Given the description of an element on the screen output the (x, y) to click on. 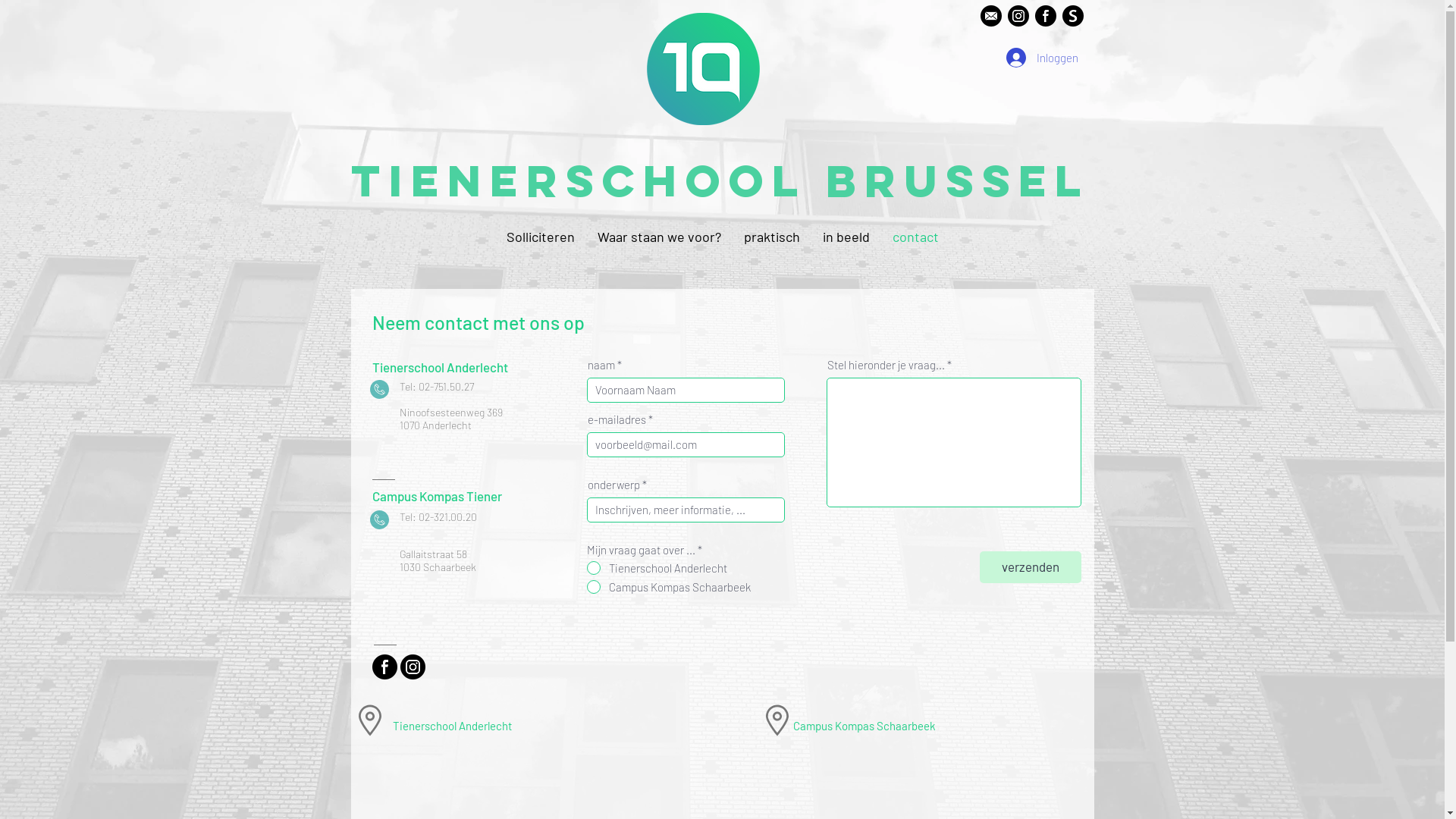
in beeld Element type: text (846, 236)
contact Element type: text (915, 236)
verzenden Element type: text (1030, 567)
Inloggen Element type: text (1039, 57)
praktisch Element type: text (771, 236)
Waar staan we voor? Element type: text (658, 236)
Solliciteren Element type: text (539, 236)
Tienerschool Brussel Element type: text (719, 180)
